Given the description of an element on the screen output the (x, y) to click on. 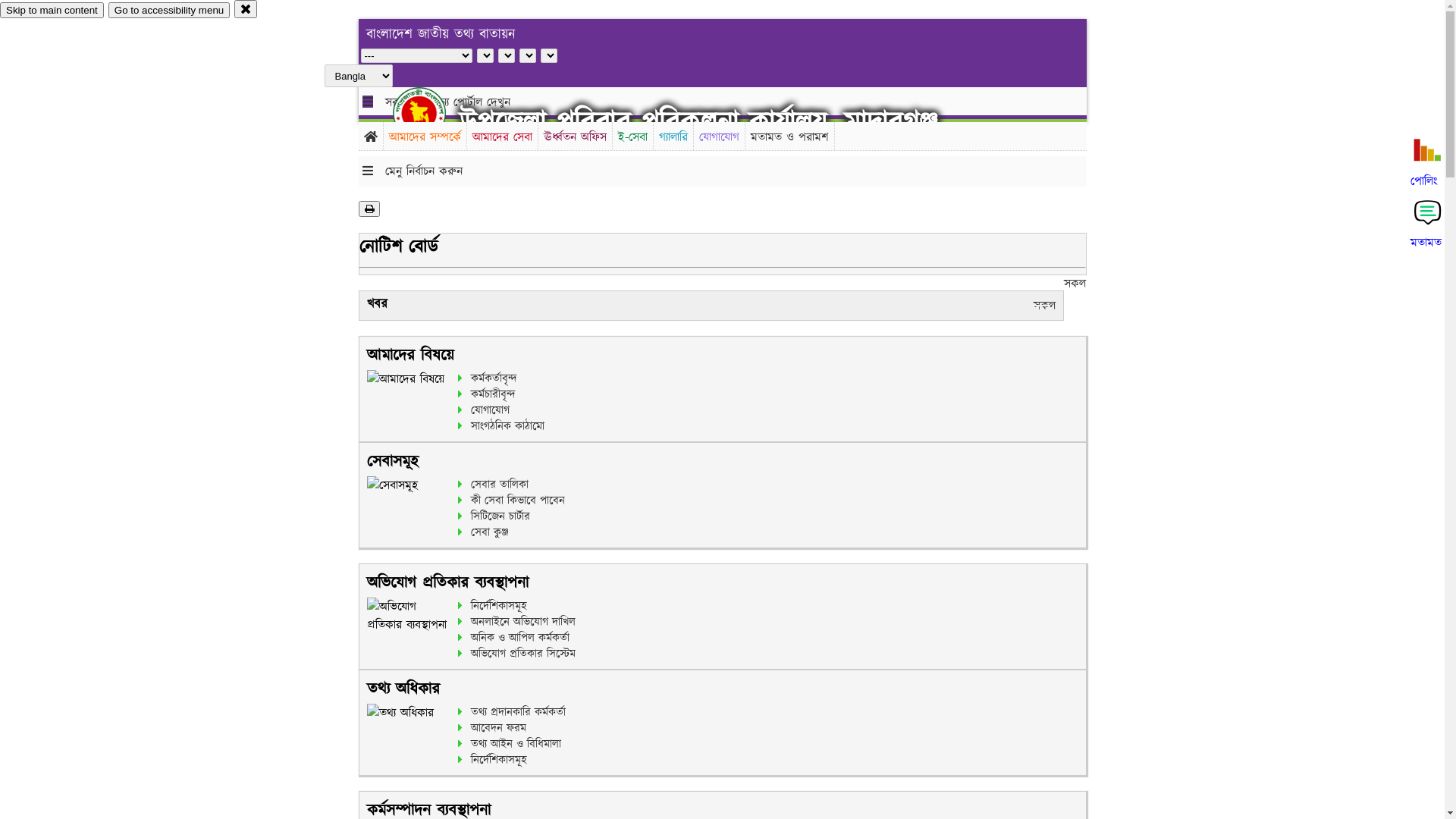
Go to accessibility menu Element type: text (168, 10)
close Element type: hover (245, 9)

                
             Element type: hover (431, 112)
Skip to main content Element type: text (51, 10)
